Given the description of an element on the screen output the (x, y) to click on. 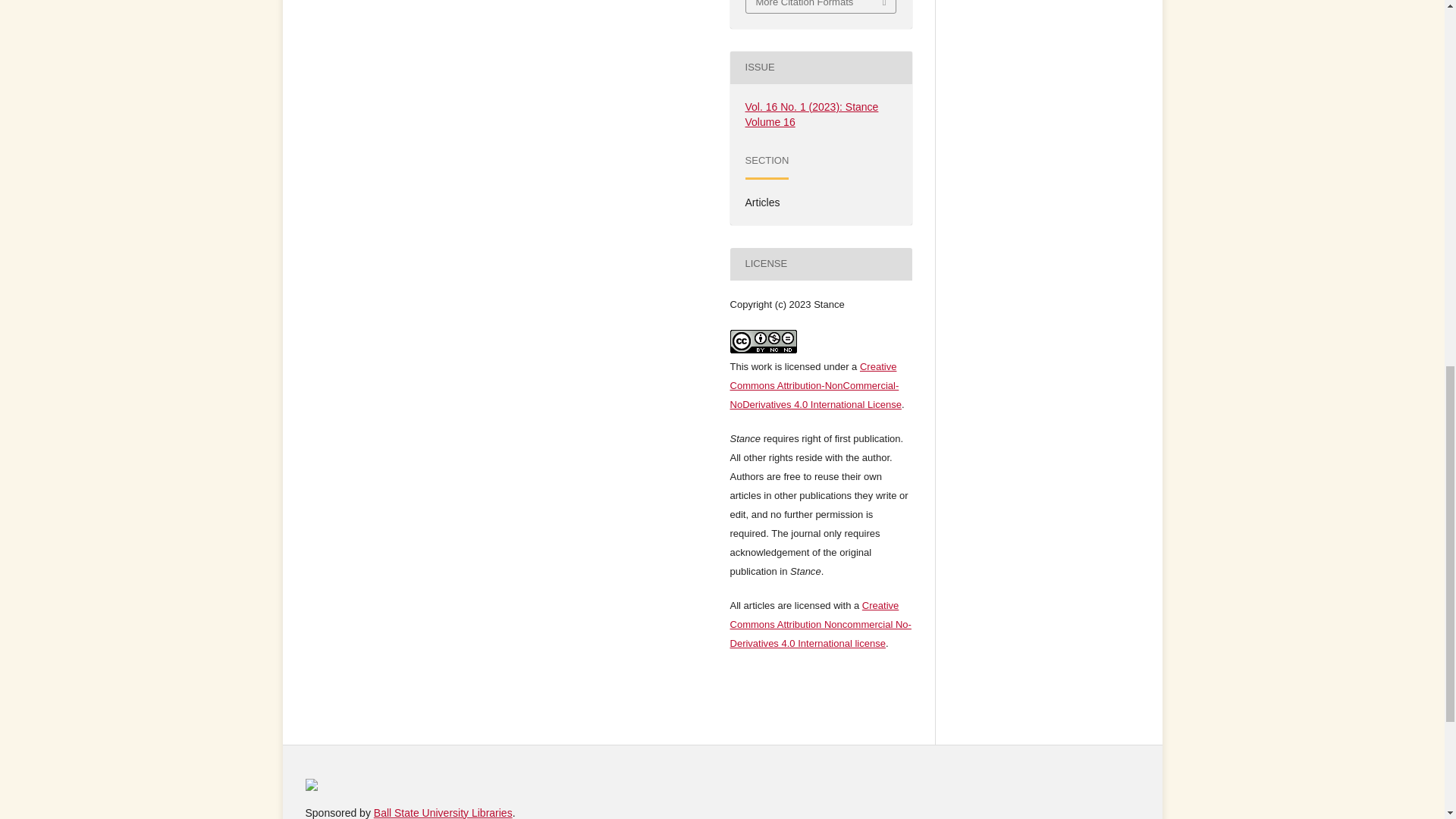
More Citation Formats (820, 6)
